Given the description of an element on the screen output the (x, y) to click on. 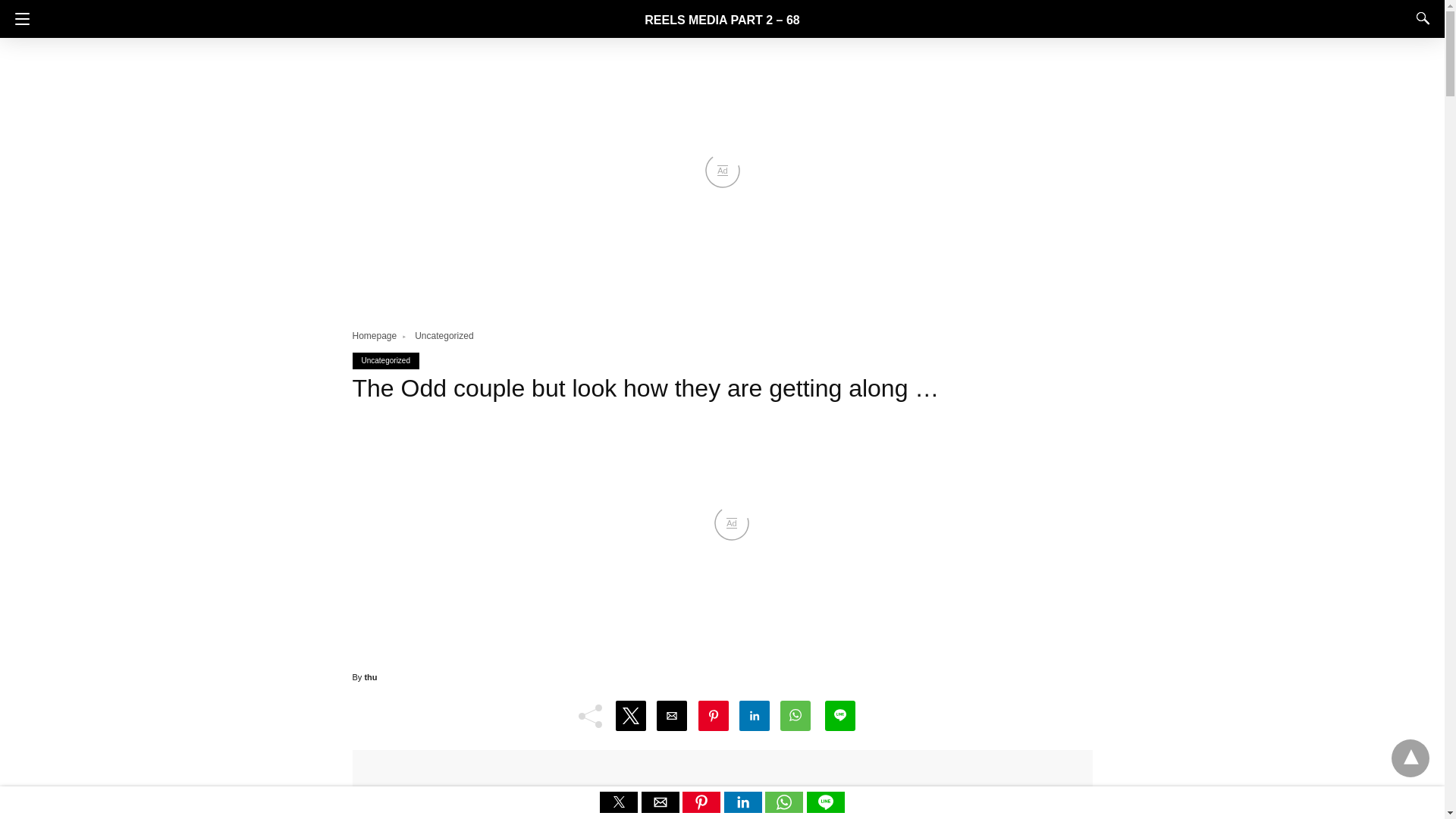
Uncategorized (443, 335)
Uncategorized (443, 335)
Homepage (381, 335)
Homepage (381, 335)
thu (370, 676)
back to top (1410, 758)
Uncategorized (384, 359)
line share (825, 808)
whatsapp share (785, 808)
